Given the description of an element on the screen output the (x, y) to click on. 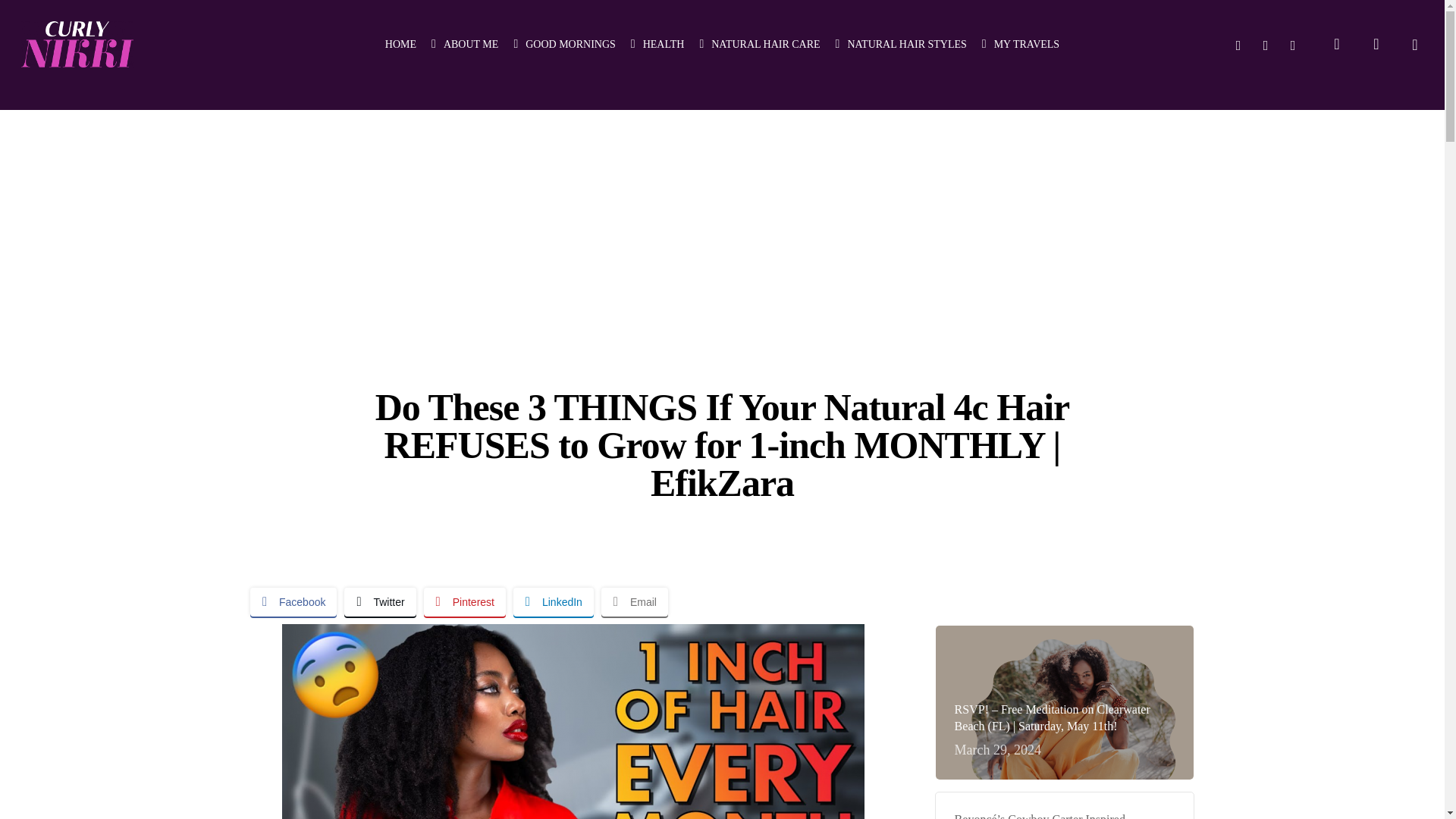
GOOD MORNINGS (563, 44)
ABOUT ME (463, 44)
HOME (400, 44)
HEALTH (657, 44)
NATURAL HAIR CARE (758, 44)
NATURAL HAIR STYLES (900, 44)
